Given the description of an element on the screen output the (x, y) to click on. 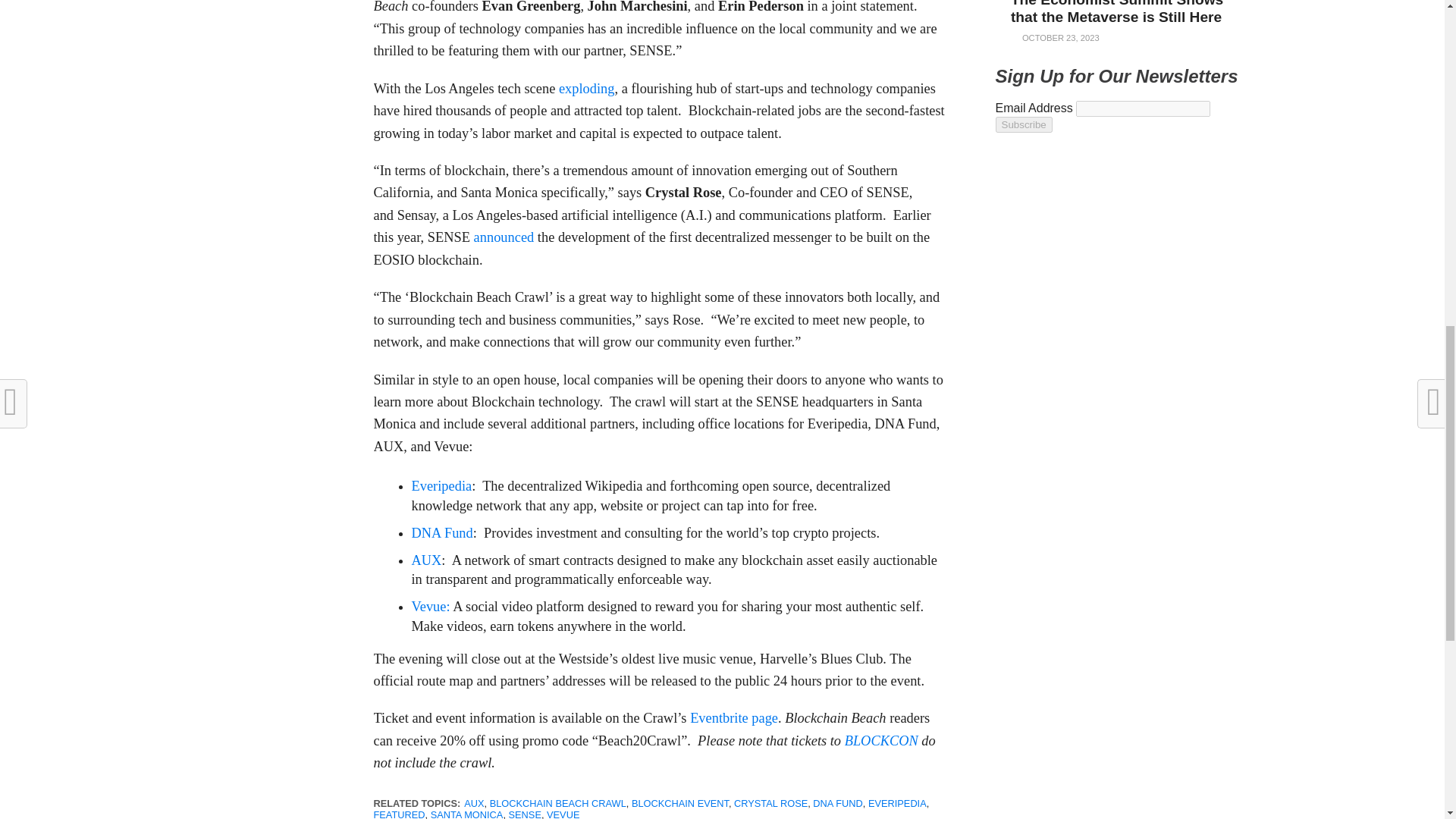
Subscribe (1022, 124)
exploding (586, 88)
